Given the description of an element on the screen output the (x, y) to click on. 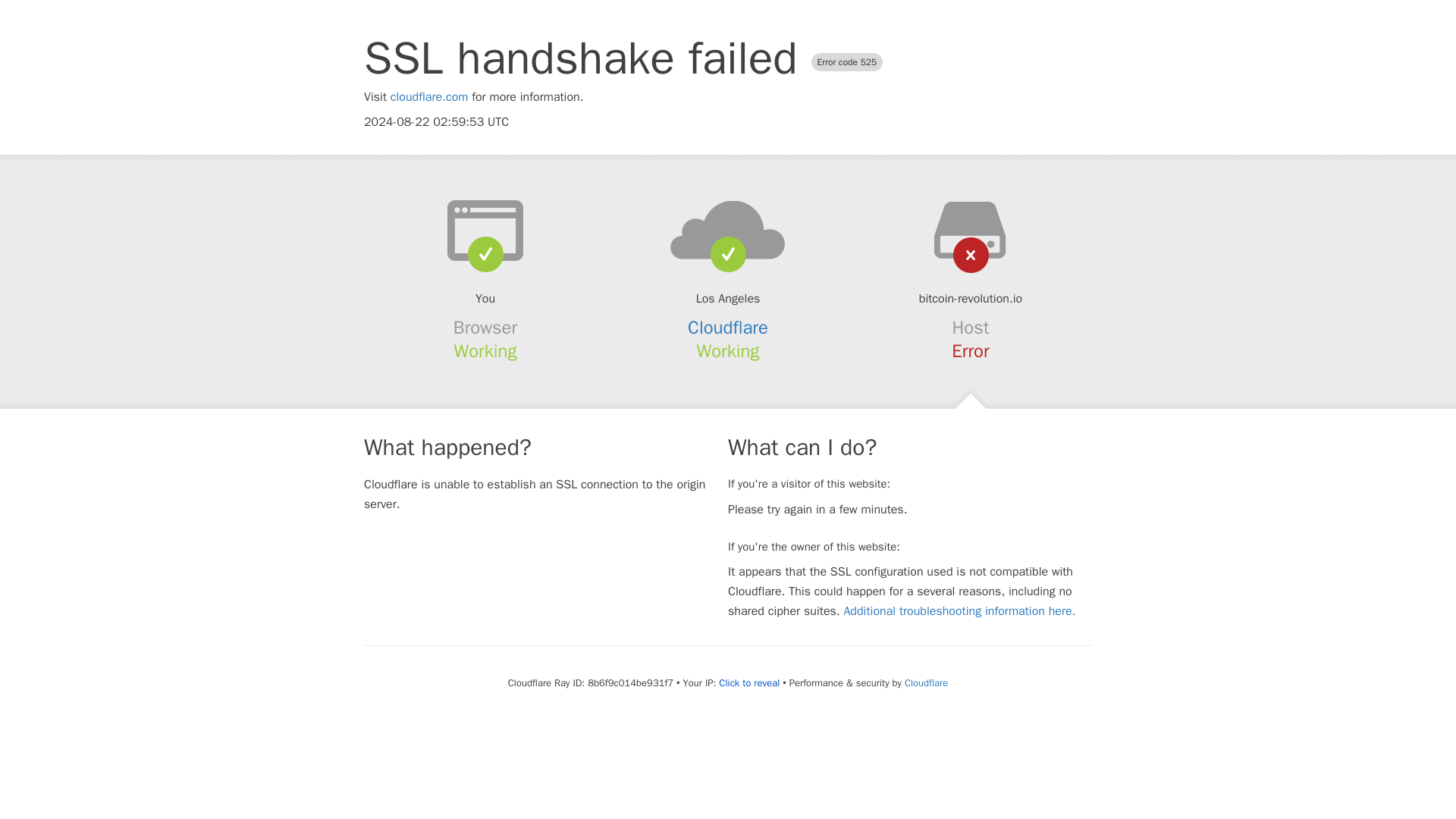
Additional troubleshooting information here. (959, 611)
Click to reveal (748, 683)
cloudflare.com (429, 96)
Cloudflare (925, 682)
Cloudflare (727, 327)
